Given the description of an element on the screen output the (x, y) to click on. 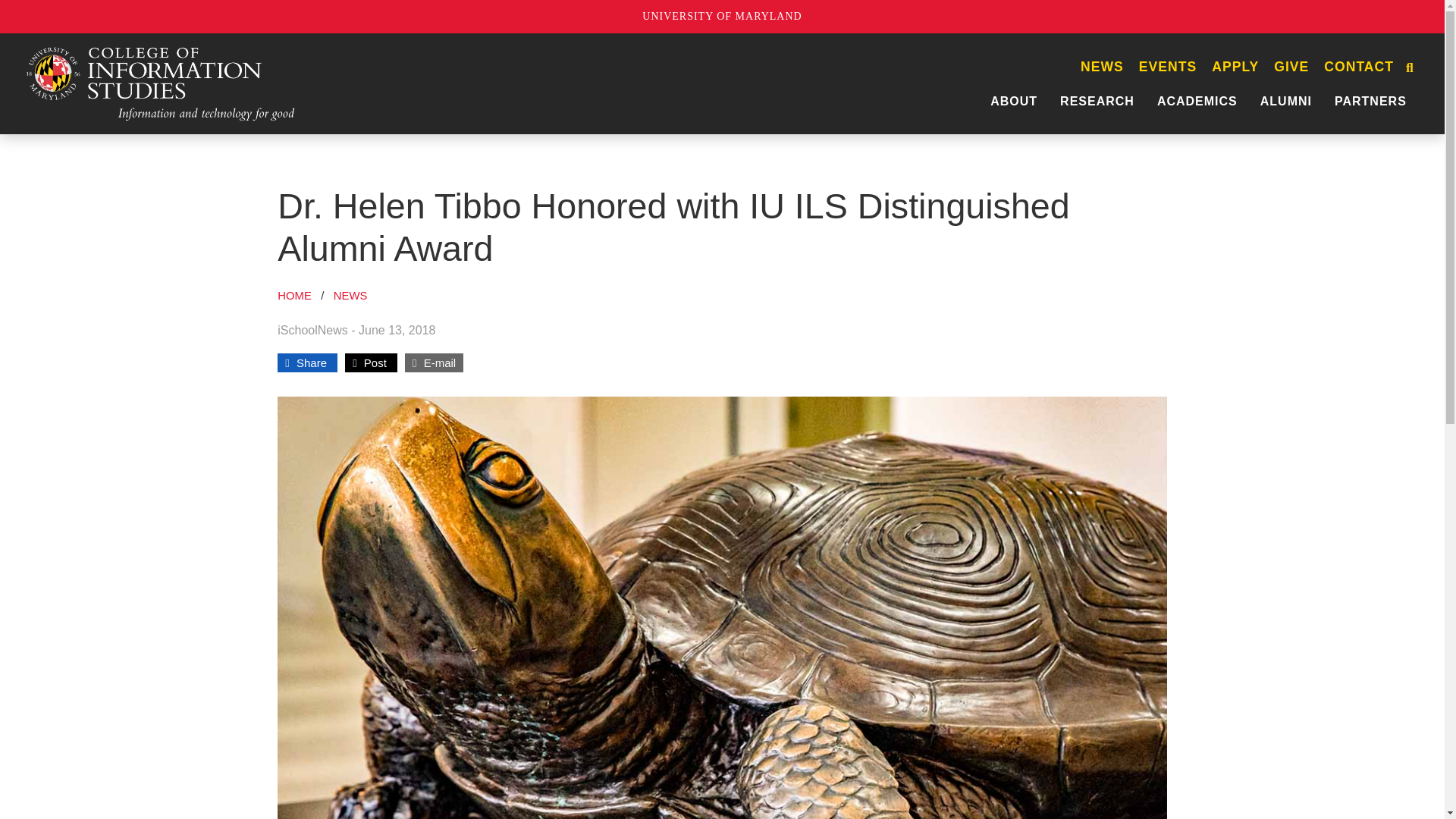
APPLY (1235, 66)
GIVE (1291, 66)
Share this post on Facebook (307, 362)
Share this post via e-mail (433, 362)
ABOUT (1013, 101)
Share this post on X (371, 362)
EVENTS (1167, 66)
UNIVERSITY OF MARYLAND (722, 16)
ACADEMICS (1197, 101)
NEWS (1102, 66)
